Given the description of an element on the screen output the (x, y) to click on. 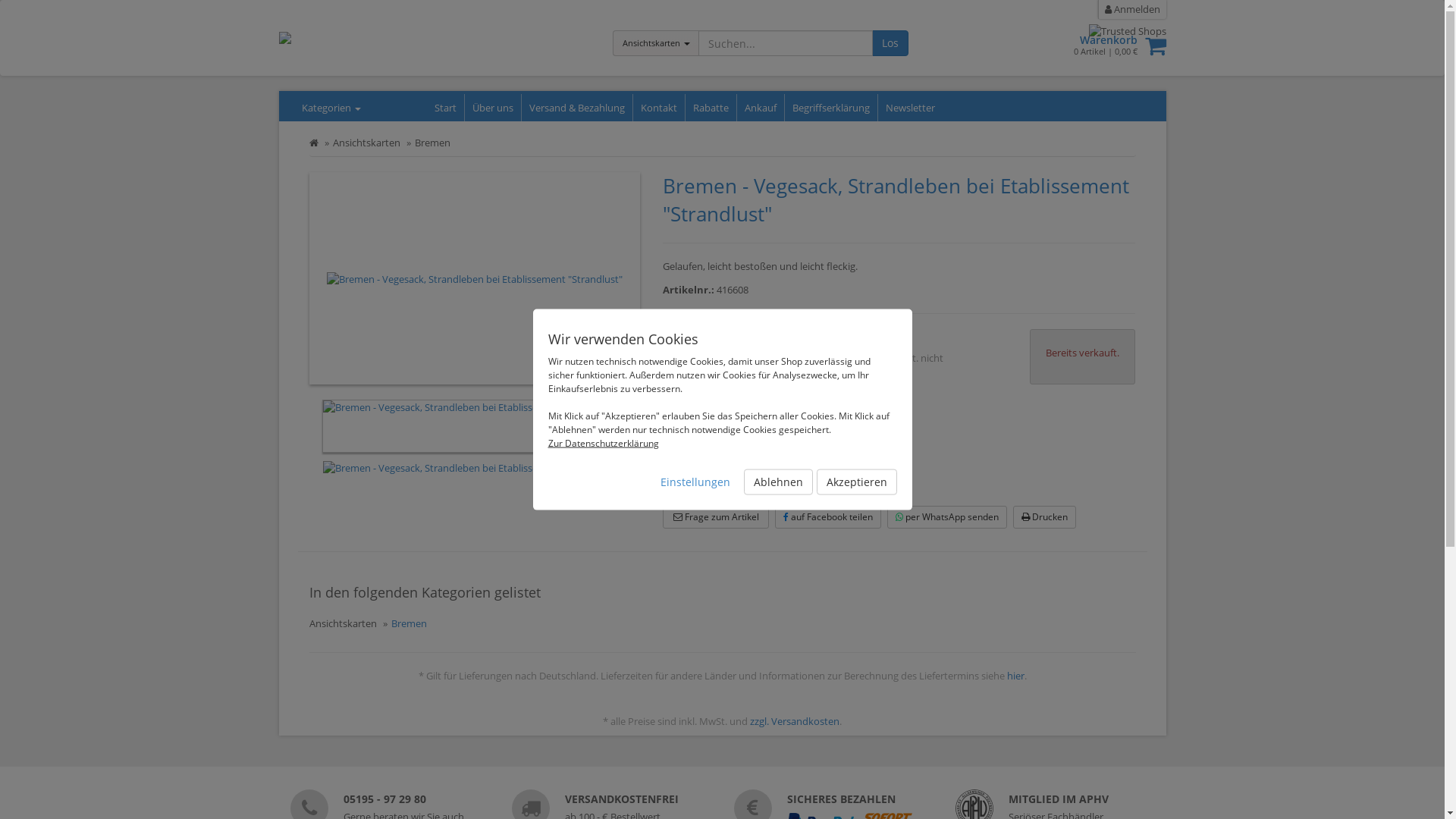
Ansichtskarten Element type: text (365, 142)
zur Startseite Element type: hover (313, 142)
Einstellungen Element type: text (695, 481)
Drucken Element type: text (1044, 516)
Kontakt Element type: text (658, 107)
Rabatte Element type: text (711, 107)
Akzeptieren Element type: text (855, 481)
Frage zum Artikel Element type: text (715, 516)
Ansichtskarten Element type: text (342, 623)
Ankauf Element type: text (760, 107)
zzgl. Versandkosten Element type: text (704, 388)
Kategorien Element type: text (326, 107)
hier Element type: text (1015, 675)
Versand & Bezahlung Element type: text (577, 107)
per WhatsApp senden Element type: text (947, 516)
Start Element type: text (445, 107)
Anmelden Element type: text (1132, 9)
Los Element type: text (890, 43)
Bremen Element type: text (431, 142)
Newsletter Element type: text (910, 107)
zzgl. Versandkosten Element type: text (794, 721)
Bremen Element type: text (408, 623)
auf Facebook teilen Element type: text (828, 516)
Ablehnen Element type: text (777, 481)
Warenkorb Element type: text (1090, 39)
Ansichtskarten Element type: text (655, 43)
